Given the description of an element on the screen output the (x, y) to click on. 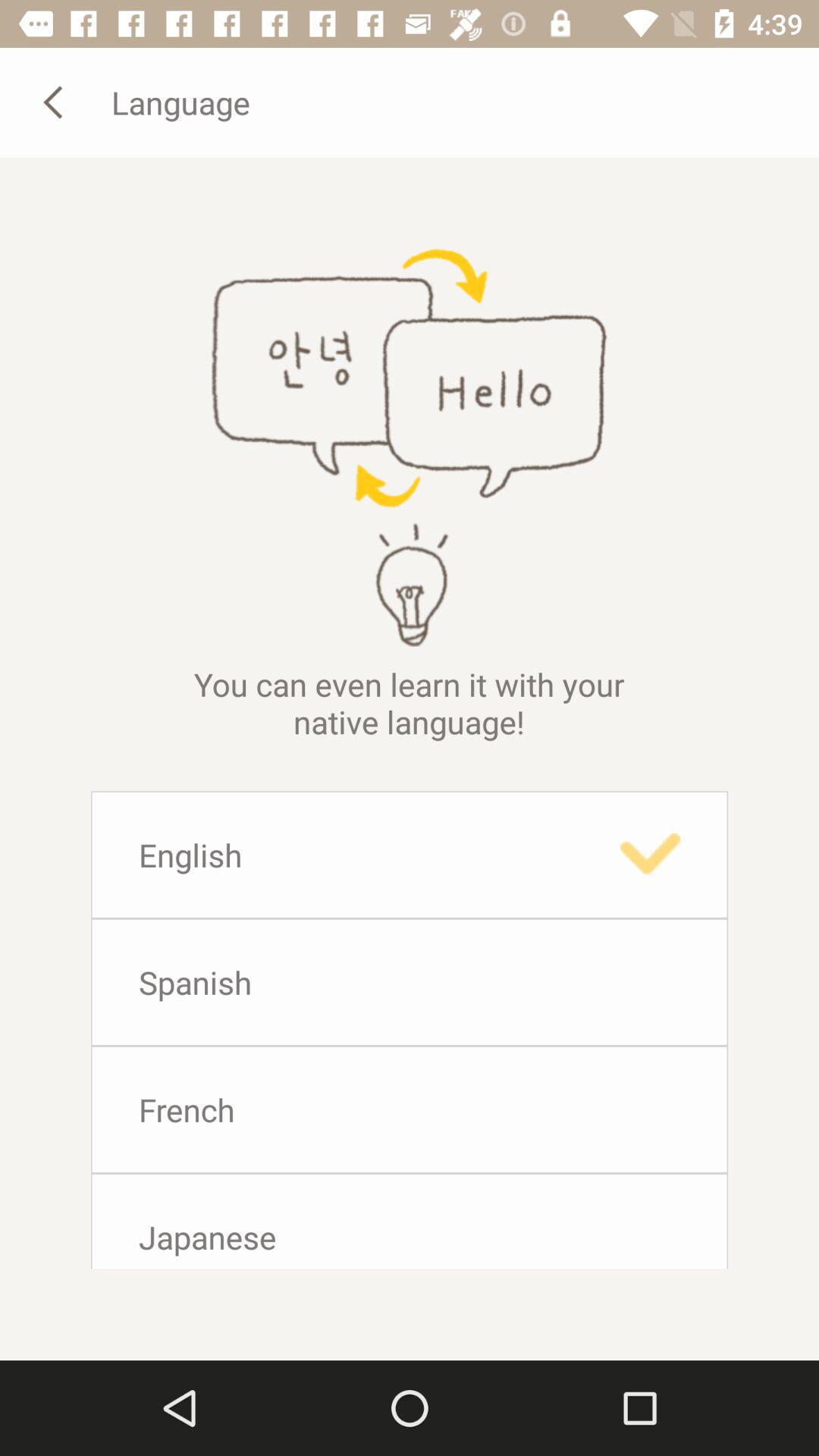
select the button which is below english (409, 981)
select previous button which is before language on the page (55, 102)
